Given the description of an element on the screen output the (x, y) to click on. 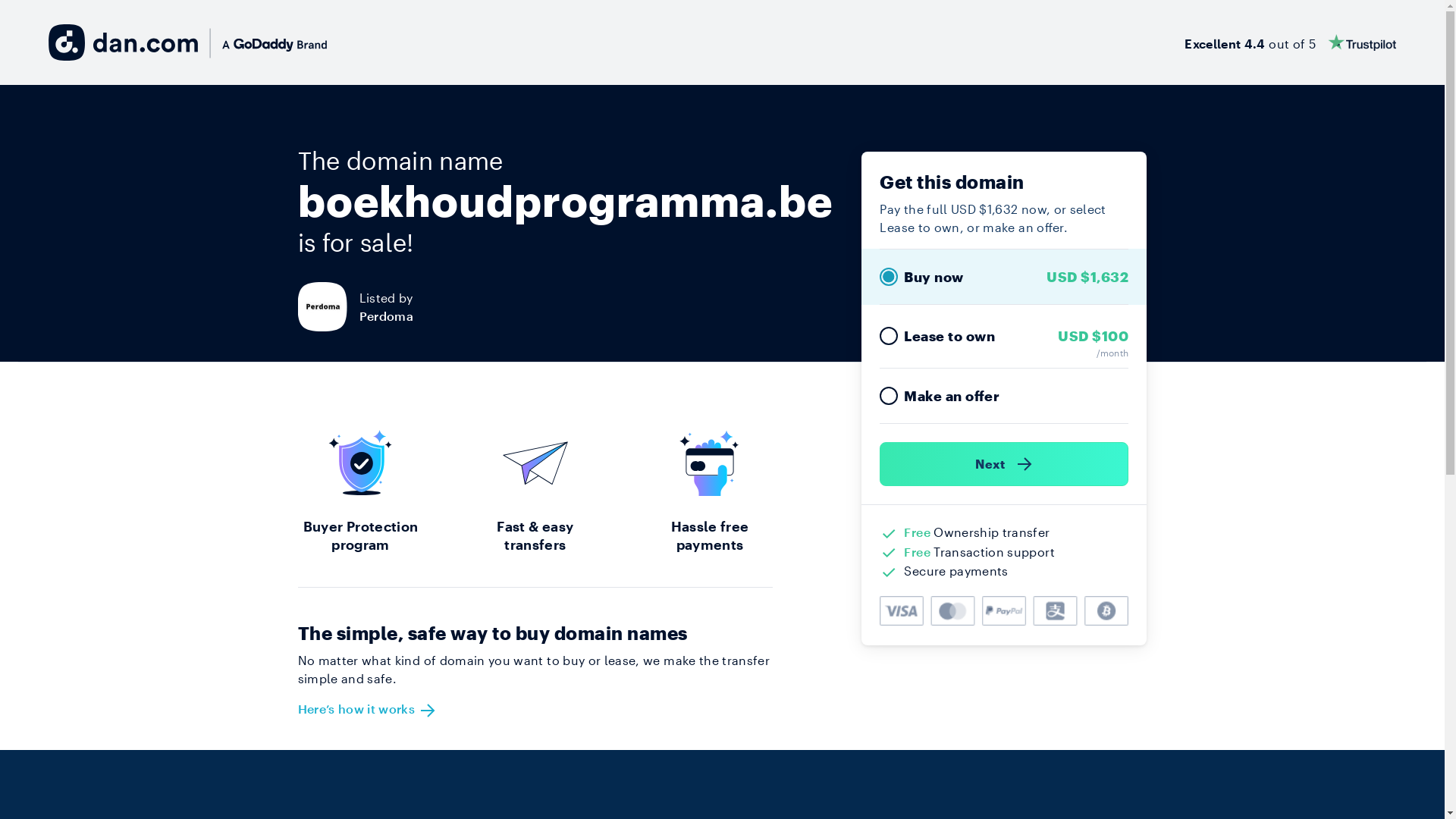
Excellent 4.4 out of 5 Element type: text (1290, 42)
Next
) Element type: text (1003, 464)
